Given the description of an element on the screen output the (x, y) to click on. 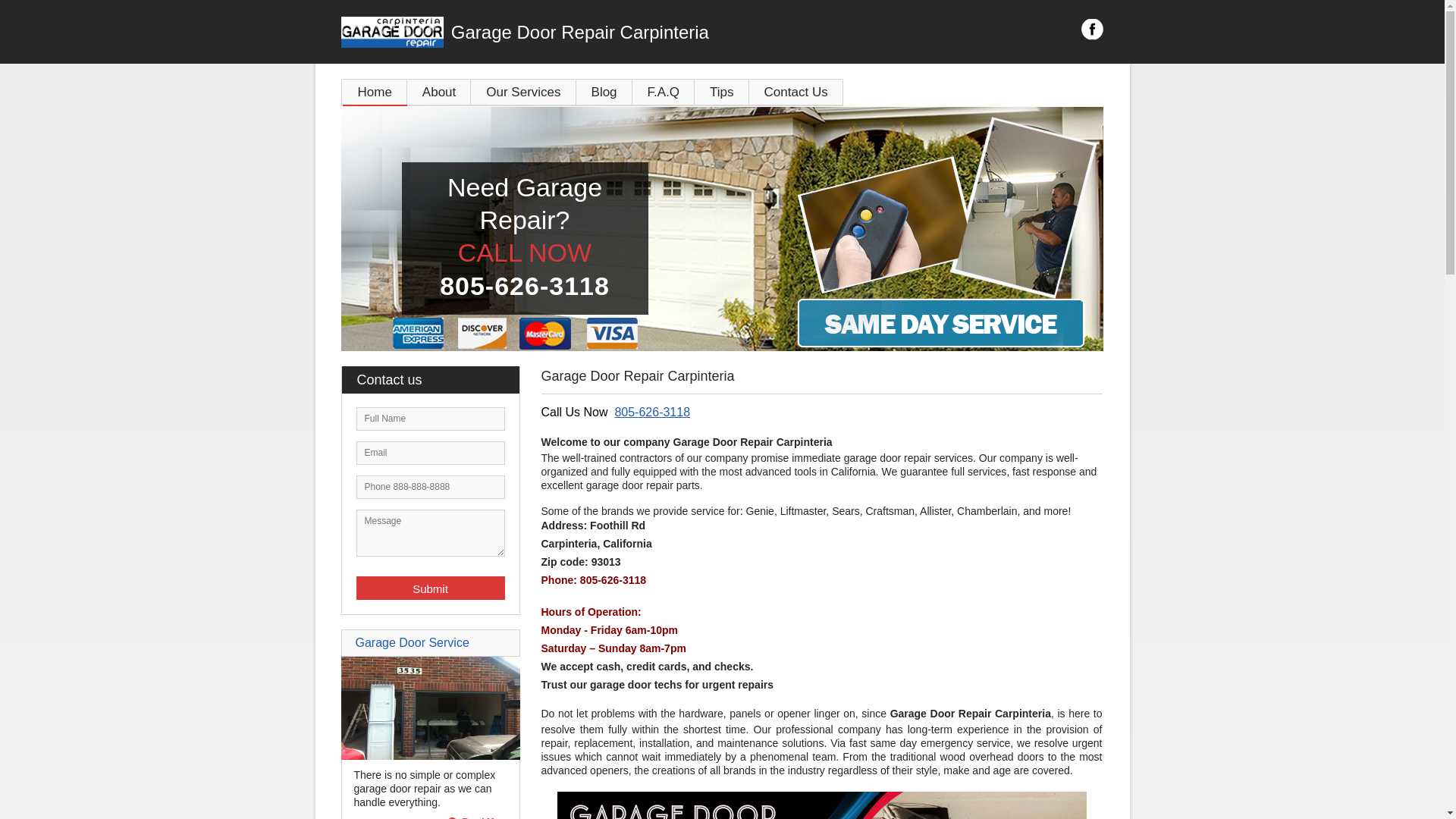
805-626-3118 (652, 411)
Garage Door Service (411, 642)
Garage Door Repair Carpinteria (606, 32)
Our Services (522, 91)
Submit (430, 587)
About (438, 91)
Garage Door Repair Services in California (821, 805)
Tips (721, 91)
Home (374, 91)
Submit (430, 587)
Contact us (437, 379)
Contact Us (796, 91)
Read More (477, 818)
F.A.Q (663, 91)
Facebook (1092, 29)
